Given the description of an element on the screen output the (x, y) to click on. 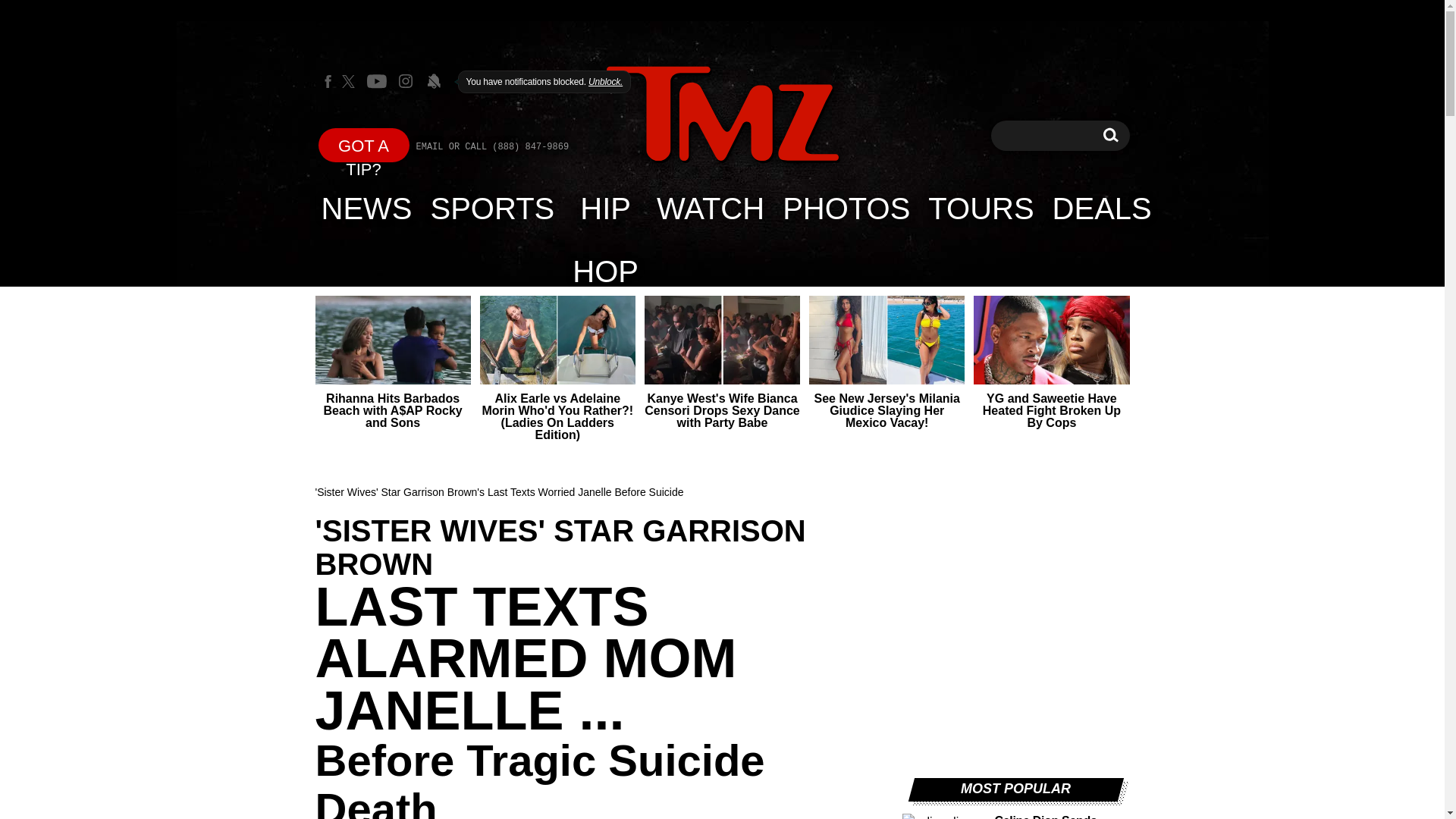
TOURS (980, 207)
TMZ (722, 113)
DEALS (1101, 207)
NEWS (367, 207)
HIP HOP (605, 207)
SPORTS (493, 207)
WATCH (710, 207)
PHOTOS (845, 207)
GOT A TIP? (363, 144)
